Given the description of an element on the screen output the (x, y) to click on. 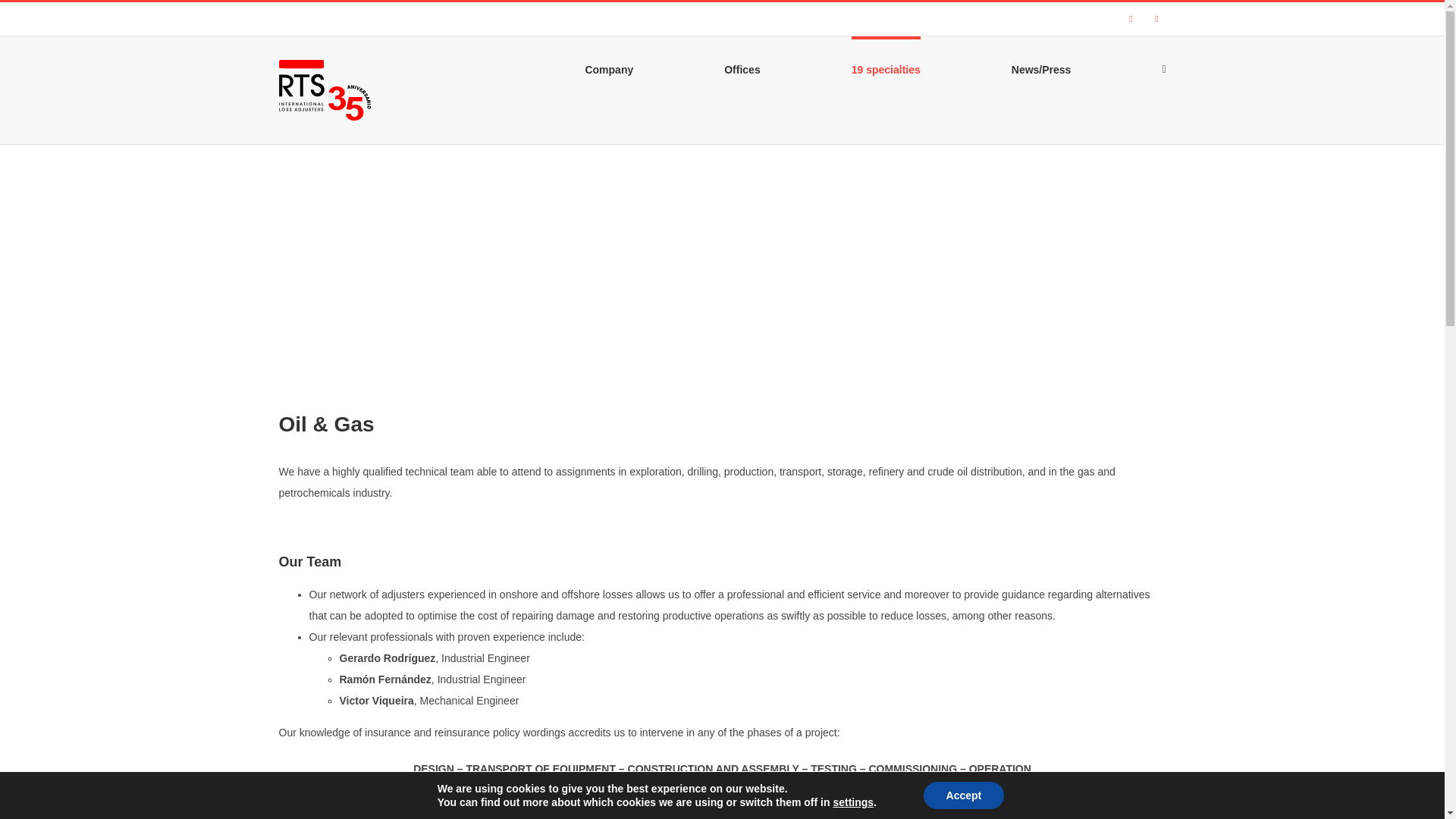
19 specialties (885, 67)
Email (1157, 18)
LinkedIn (1131, 18)
Offices (741, 67)
Email (1157, 18)
LinkedIn (1131, 18)
Company (609, 67)
